Given the description of an element on the screen output the (x, y) to click on. 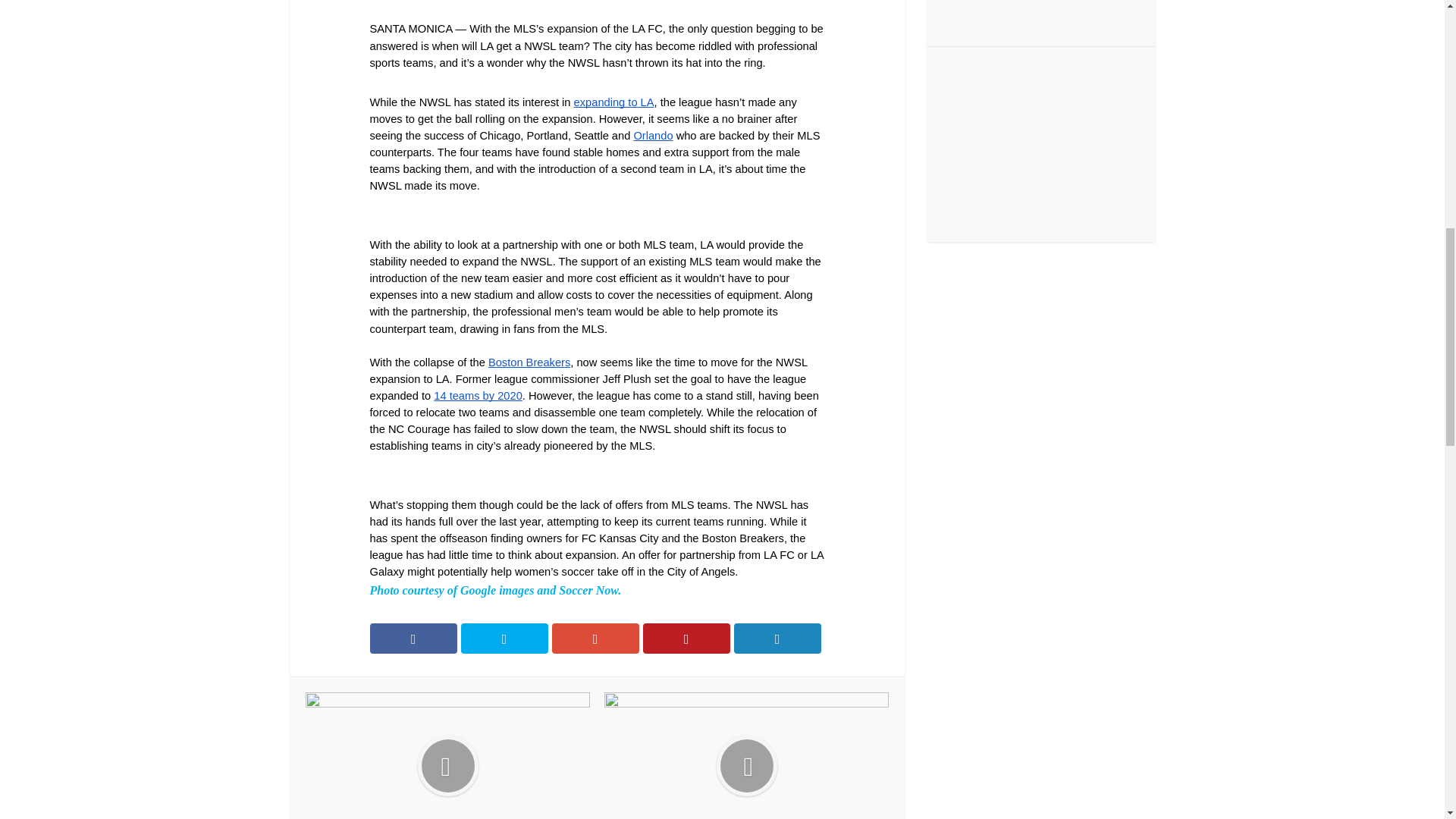
expanding to LA (613, 101)
Boston Breakers (528, 361)
Los Angeles Galaxy light up Santa Monica (447, 755)
Orlando (652, 134)
Photo courtesy of Google images and Soccer Now. (495, 590)
14 teams by 2020 (477, 395)
